Given the description of an element on the screen output the (x, y) to click on. 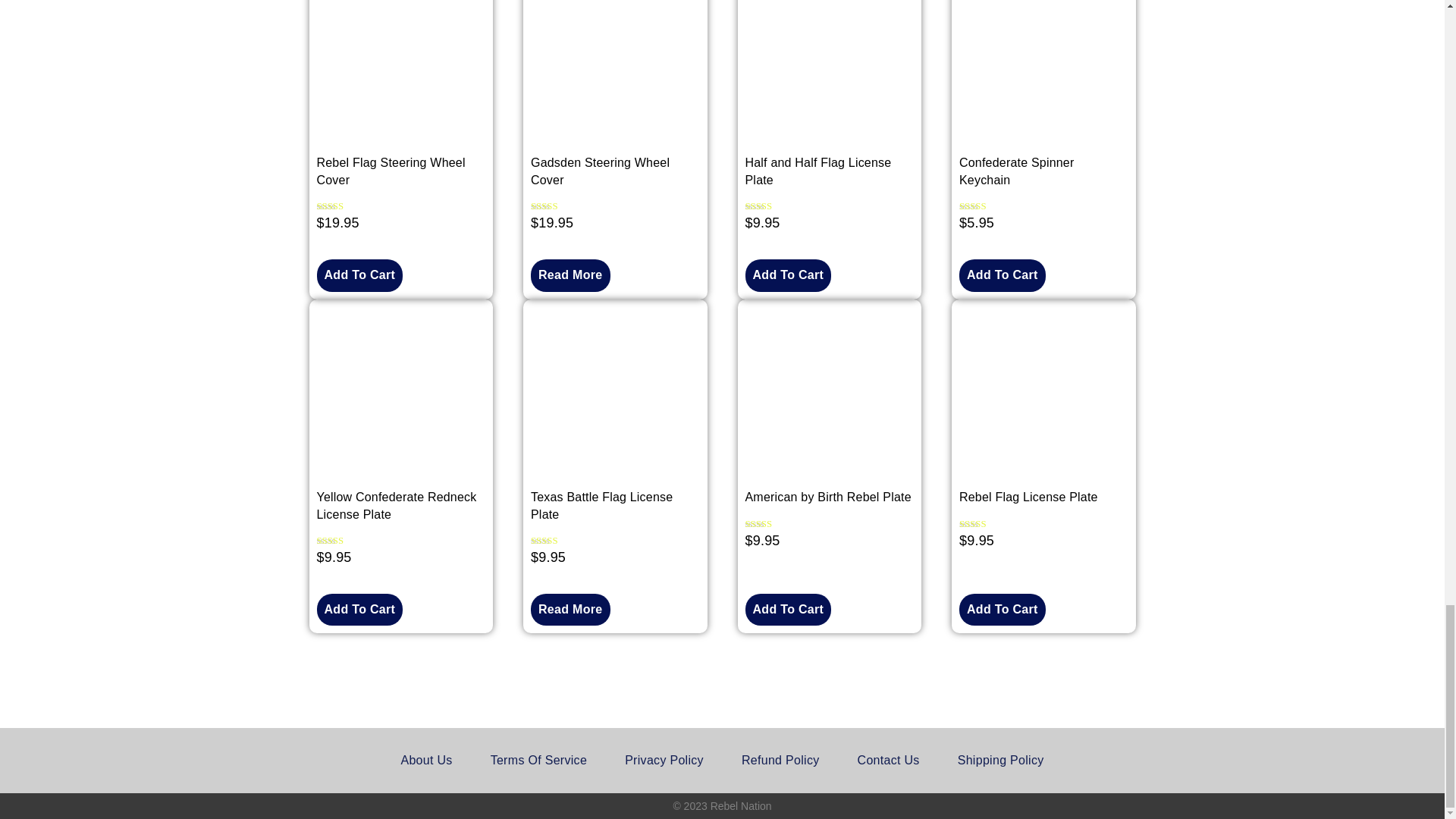
Terms of Service Page (539, 760)
About Rebel Nation (426, 760)
Privacy Policy Page (664, 760)
